Given the description of an element on the screen output the (x, y) to click on. 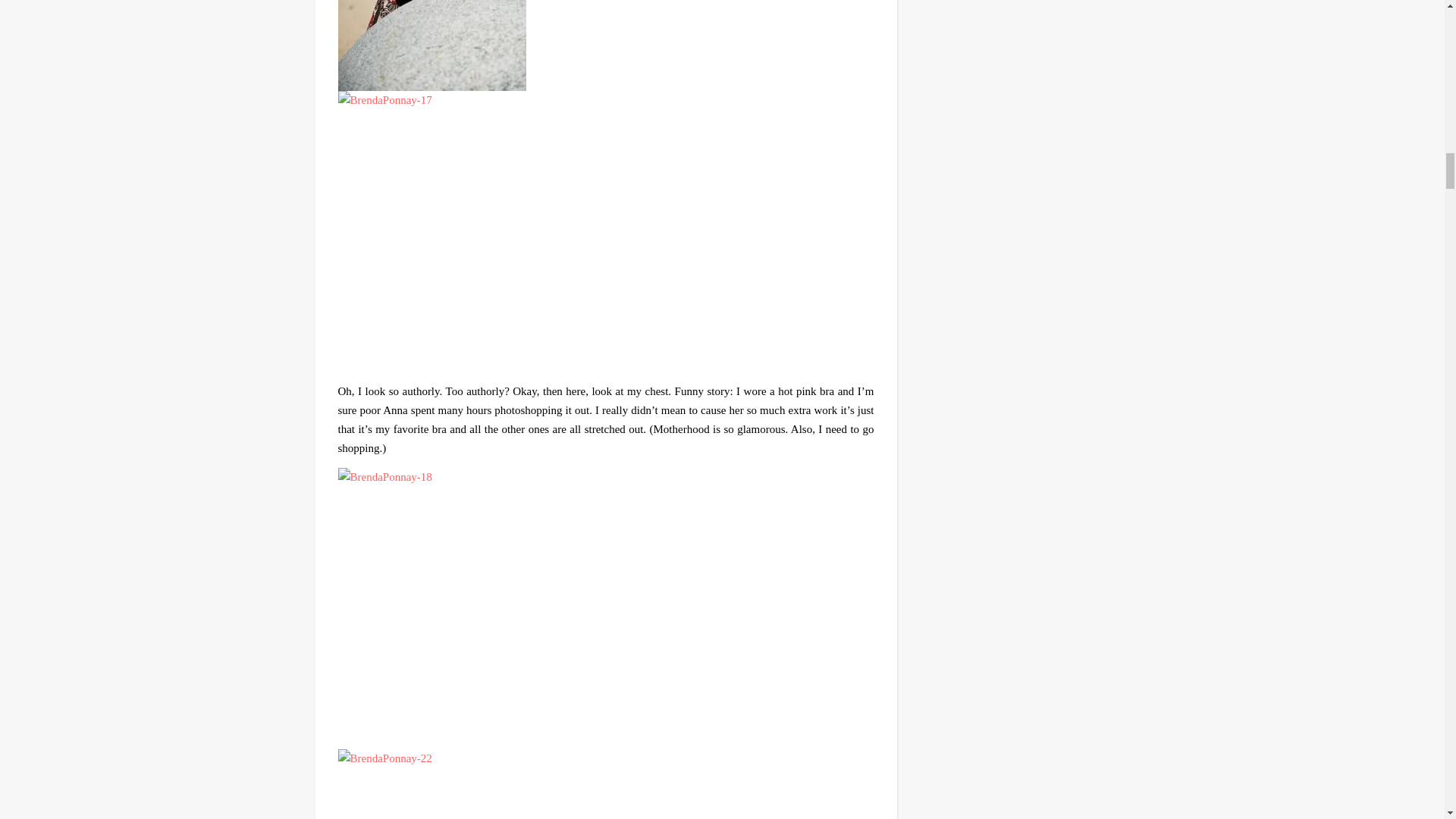
BrendaPonnay-13 by secret agent josephine, on Flickr (606, 45)
BrendaPonnay-22 by secret agent josephine, on Flickr (606, 784)
